Given the description of an element on the screen output the (x, y) to click on. 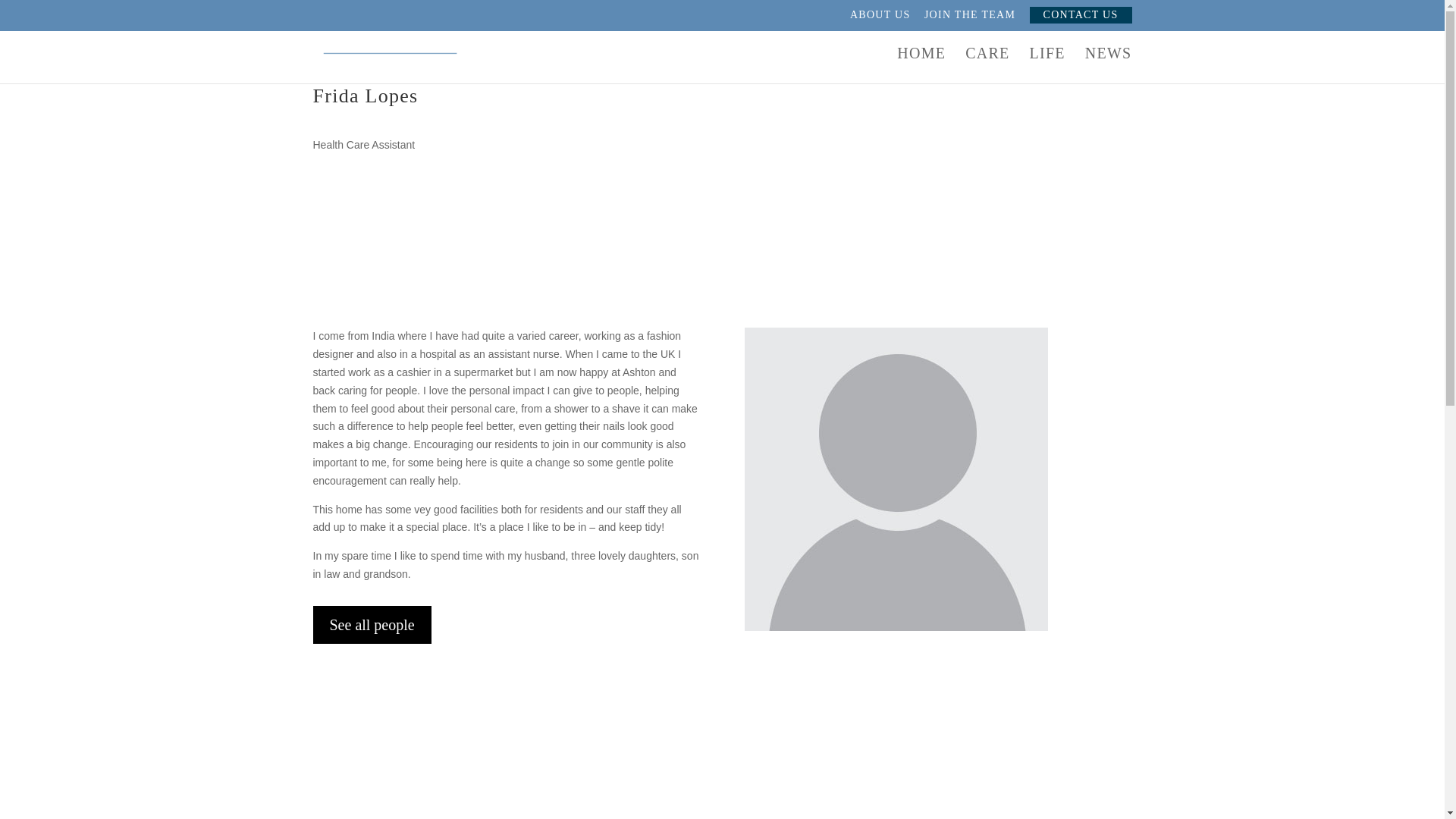
LIFE (1046, 65)
See all people (371, 624)
person-placeholder (896, 478)
JOIN THE TEAM (969, 18)
CARE (987, 65)
CONTACT US (1080, 14)
HOME (920, 65)
NEWS (1108, 65)
ABOUT US (880, 18)
